Given the description of an element on the screen output the (x, y) to click on. 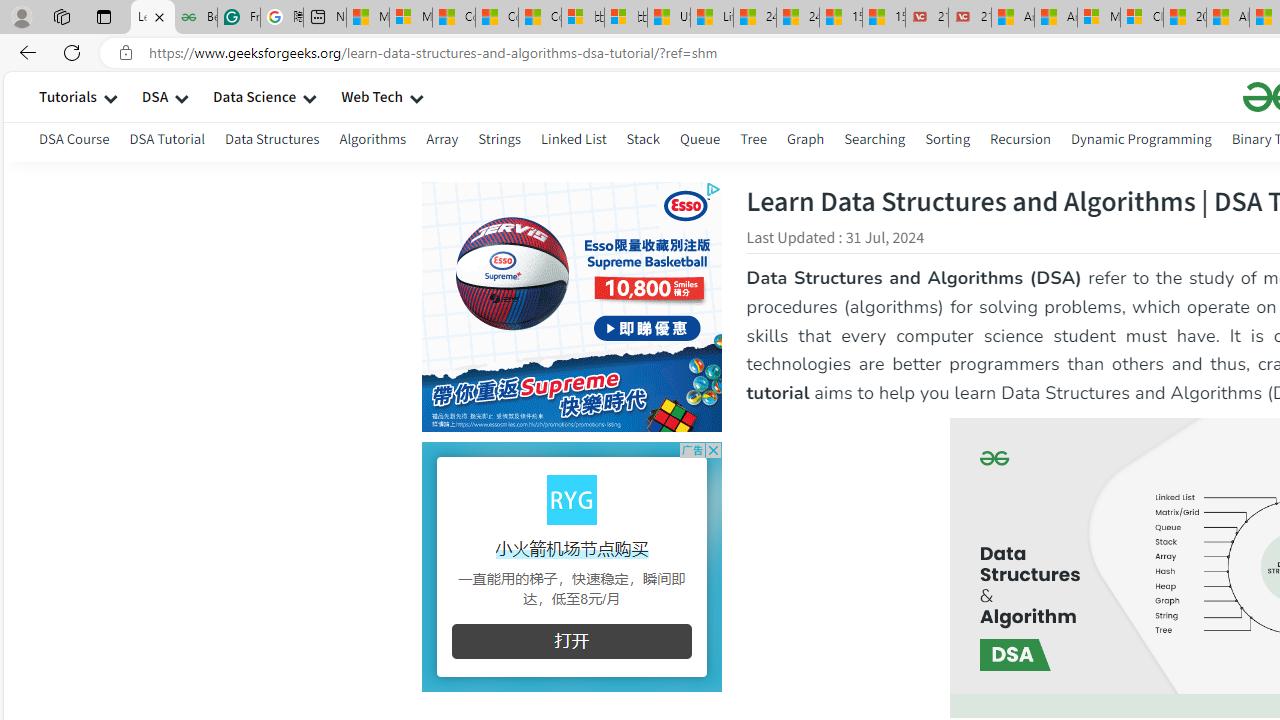
DSA Tutorial (167, 142)
Searching (875, 138)
Stack (642, 138)
USA TODAY - MSN (668, 17)
